Given the description of an element on the screen output the (x, y) to click on. 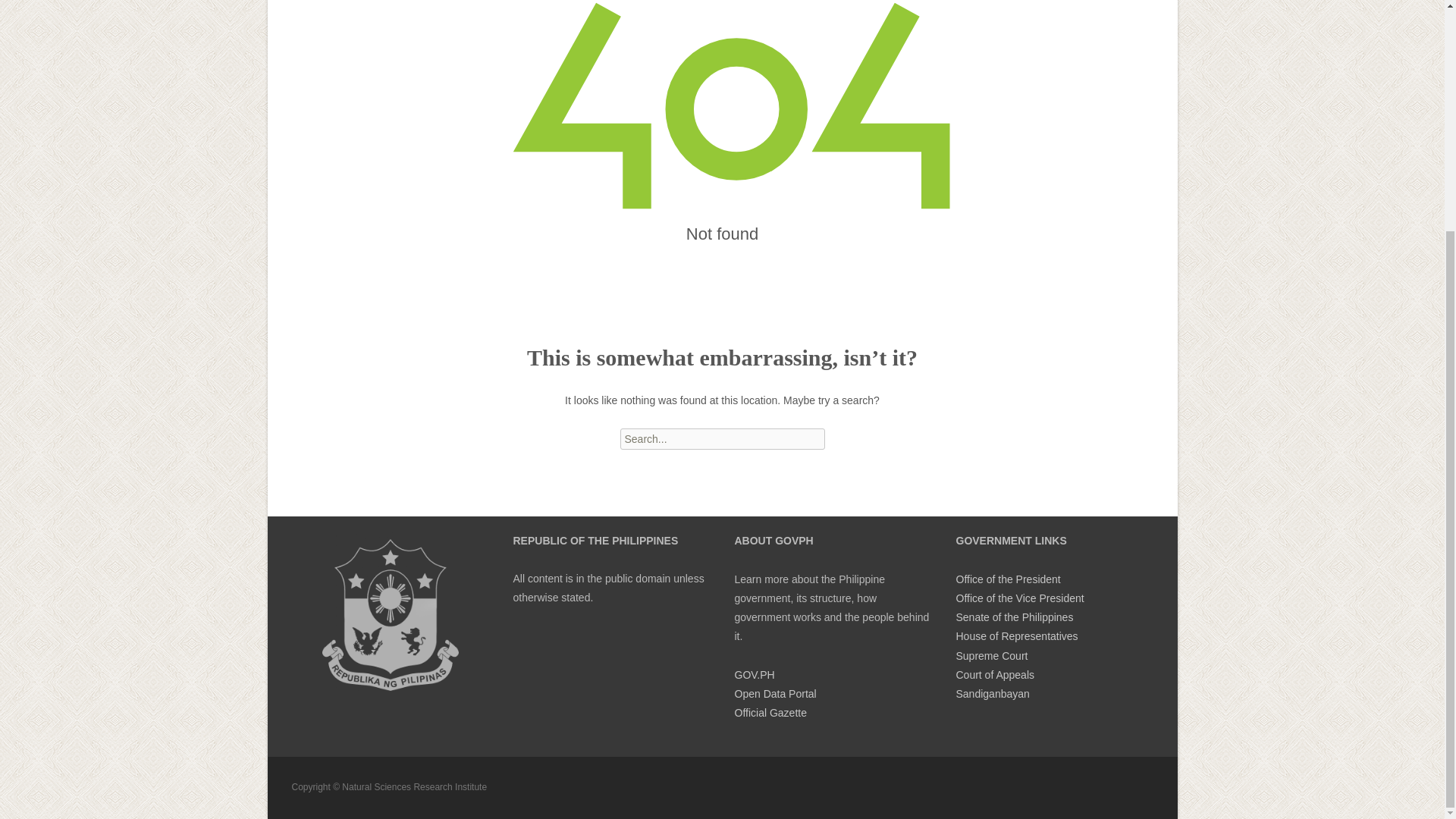
Open Data Portal (774, 693)
Senate of the Philippines (1014, 616)
GOV.PH (753, 674)
Supreme Court (991, 655)
Search for: (722, 438)
Office of the Vice President (1019, 598)
House of Representatives (1016, 635)
Office of the President (1007, 579)
Court of Appeals (994, 674)
Official Gazette (769, 712)
Sandiganbayan (992, 693)
